Given the description of an element on the screen output the (x, y) to click on. 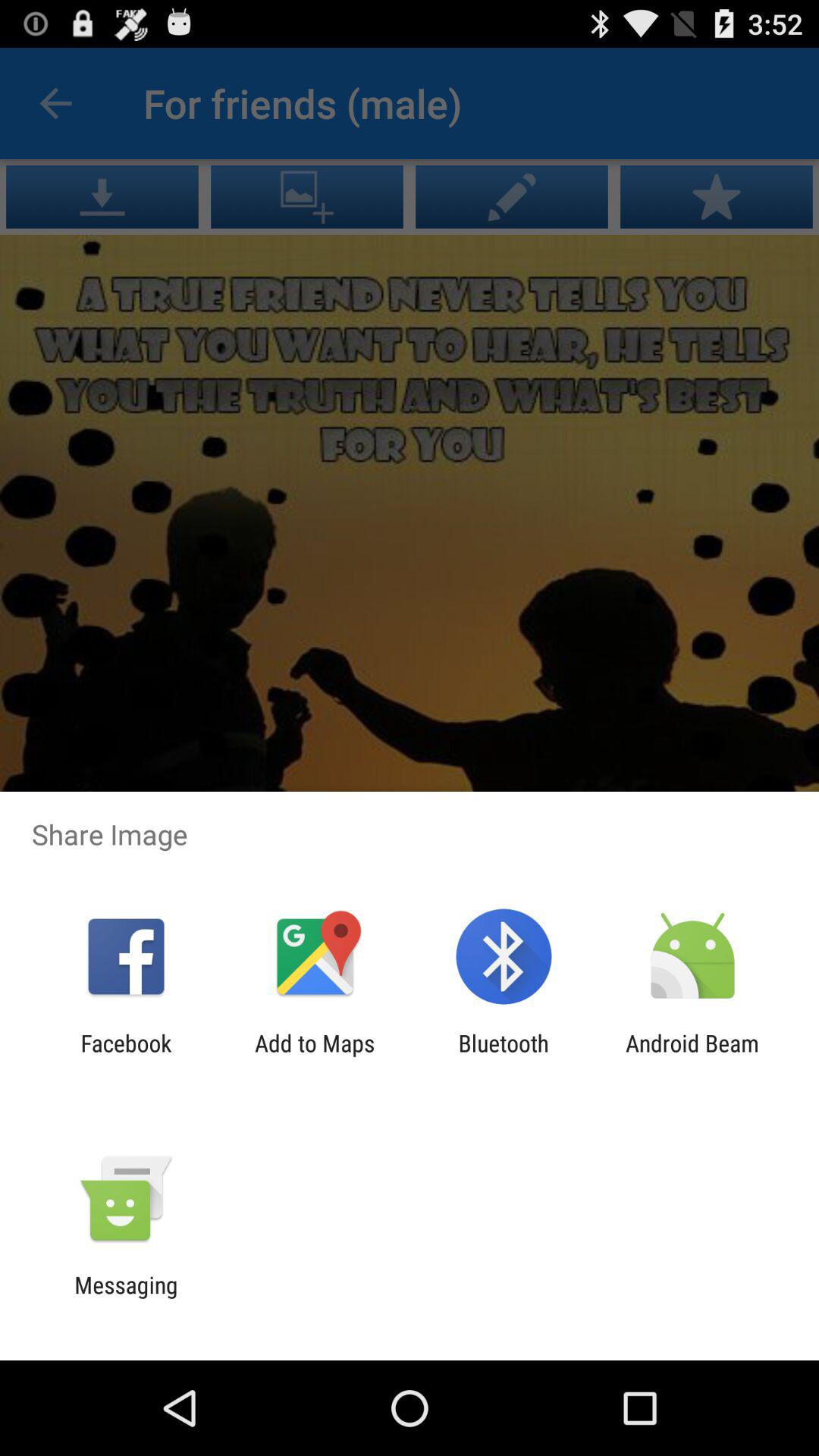
jump until the bluetooth item (503, 1056)
